Given the description of an element on the screen output the (x, y) to click on. 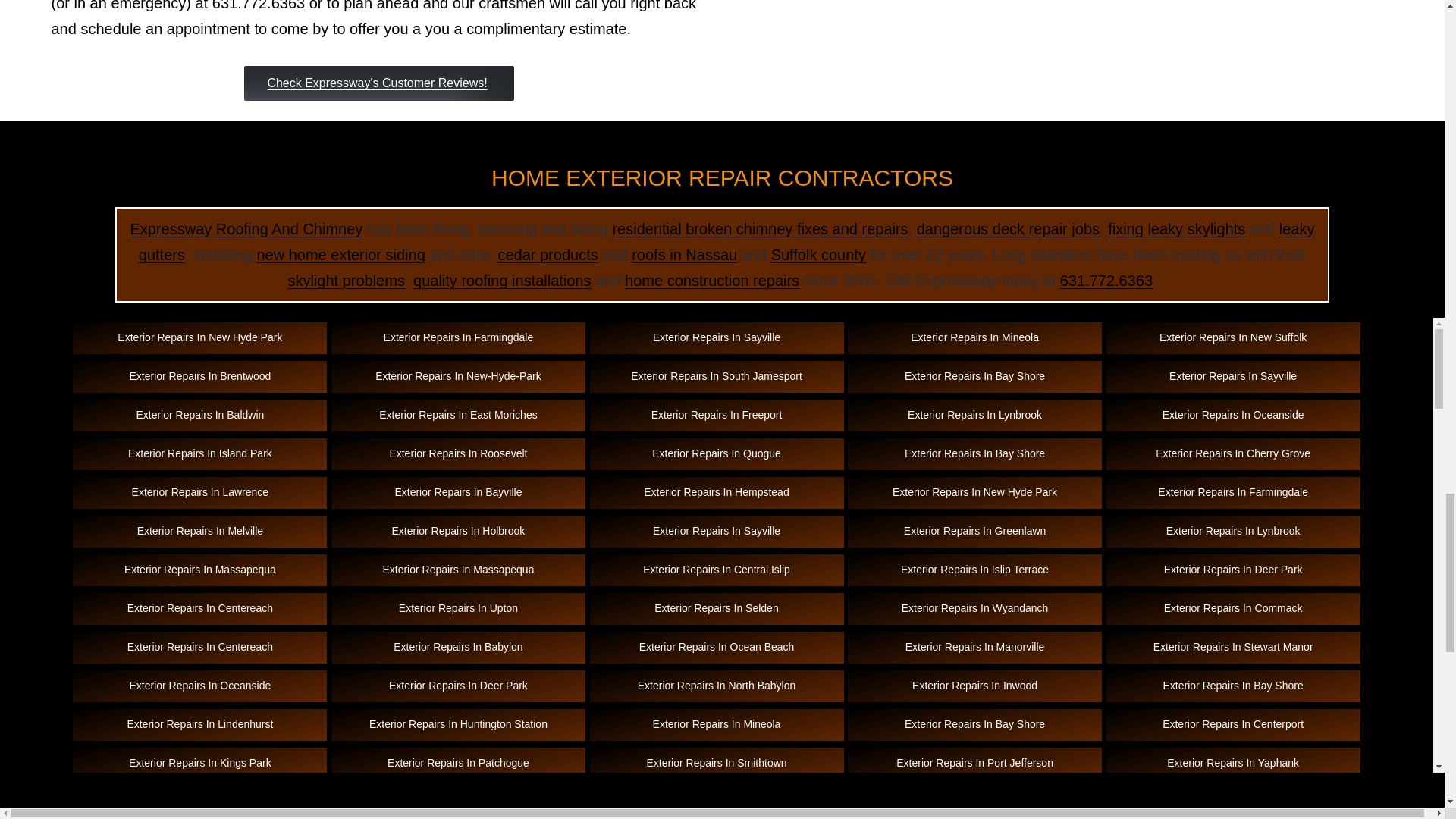
HOME EXTERIOR REPAIR CONTRACTORS (722, 177)
631.772.6363 (258, 5)
residential broken chimney fixes and repairs (759, 228)
Check Expressway's Customer Reviews! (379, 83)
Expressway Roofing And Chimney (245, 228)
